Given the description of an element on the screen output the (x, y) to click on. 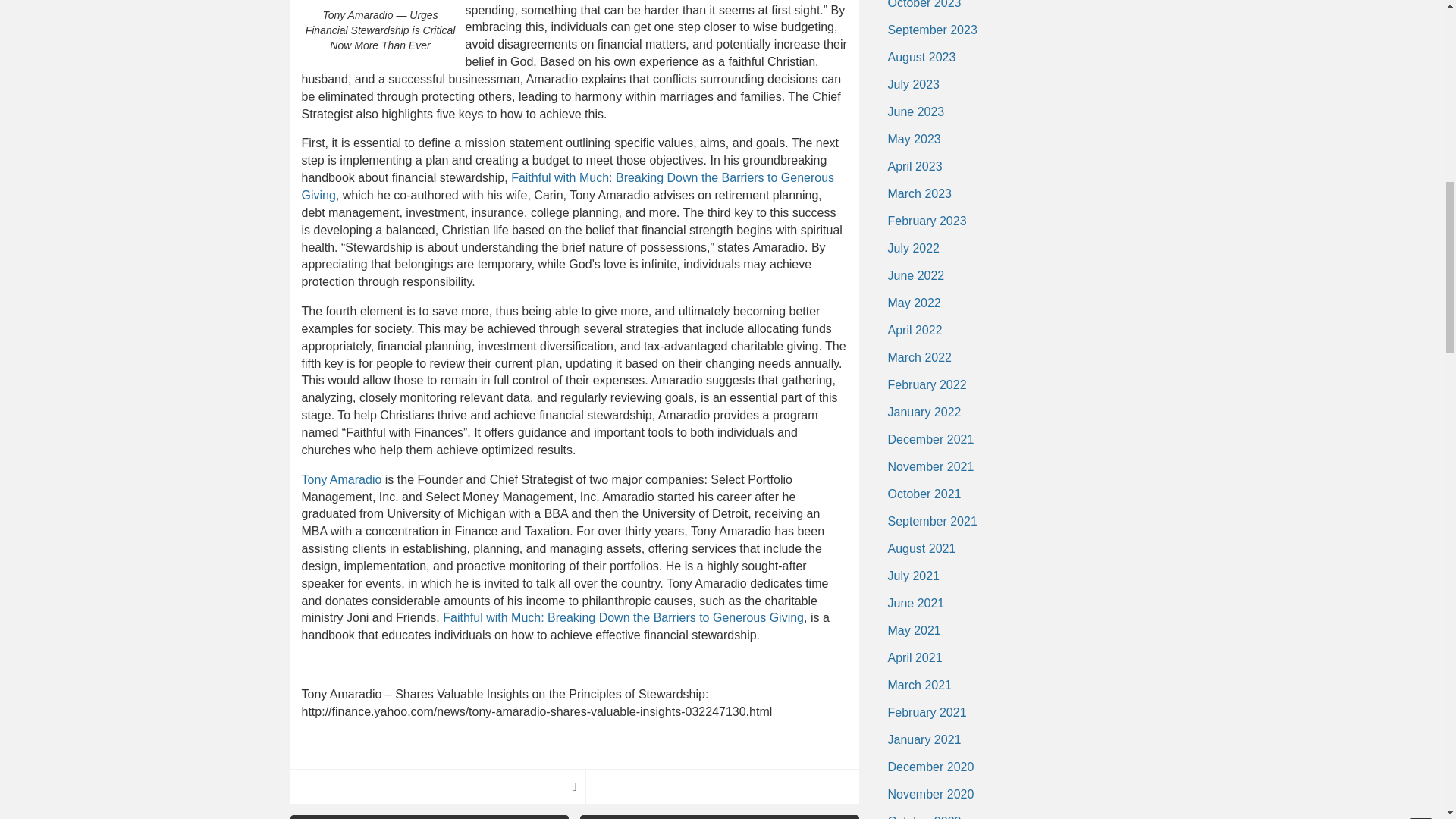
October 2023 (923, 8)
Tony Amaradio (341, 479)
